Given the description of an element on the screen output the (x, y) to click on. 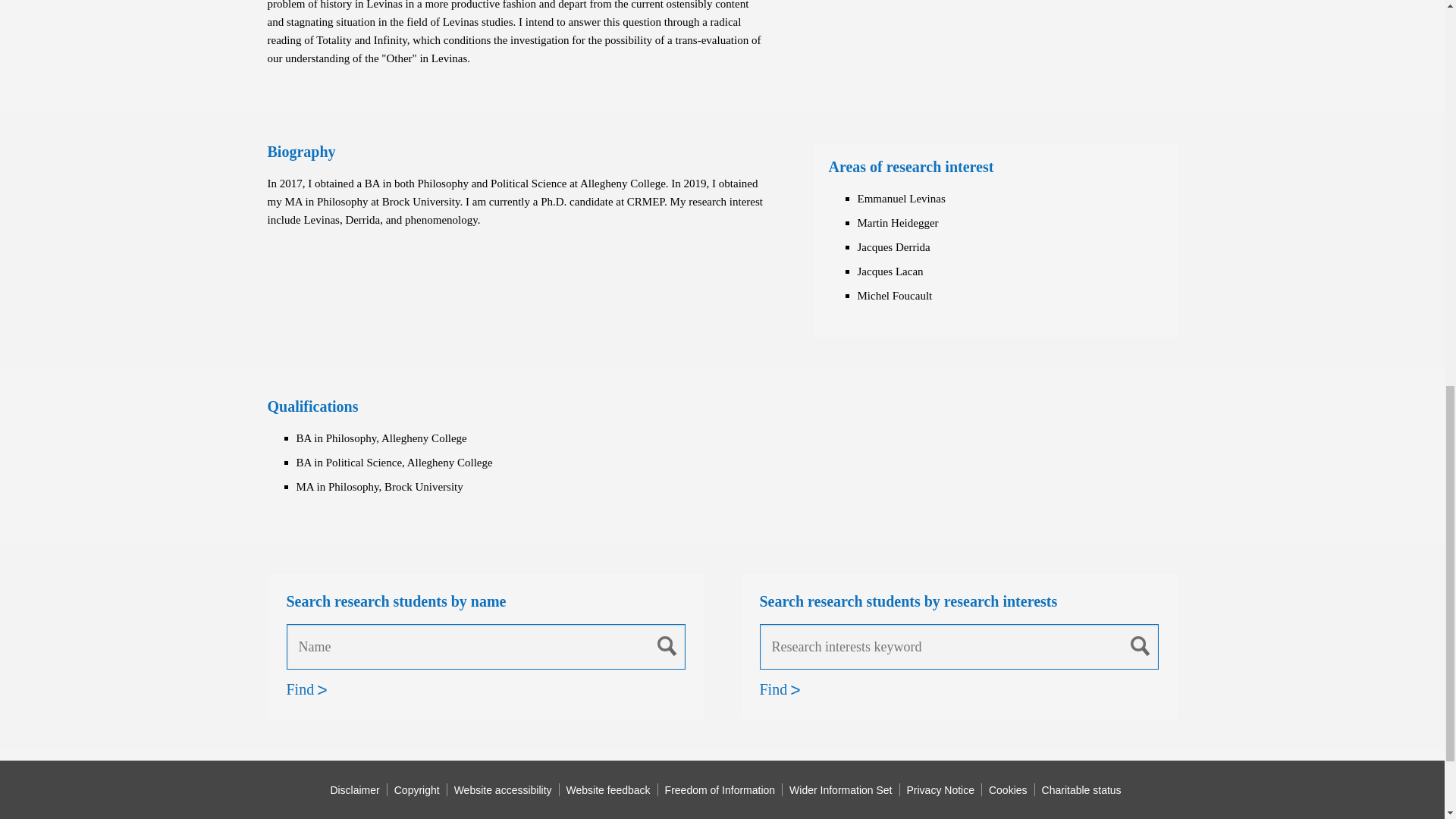
Find (300, 689)
Find (773, 689)
Search (667, 644)
Search (1140, 644)
